Given the description of an element on the screen output the (x, y) to click on. 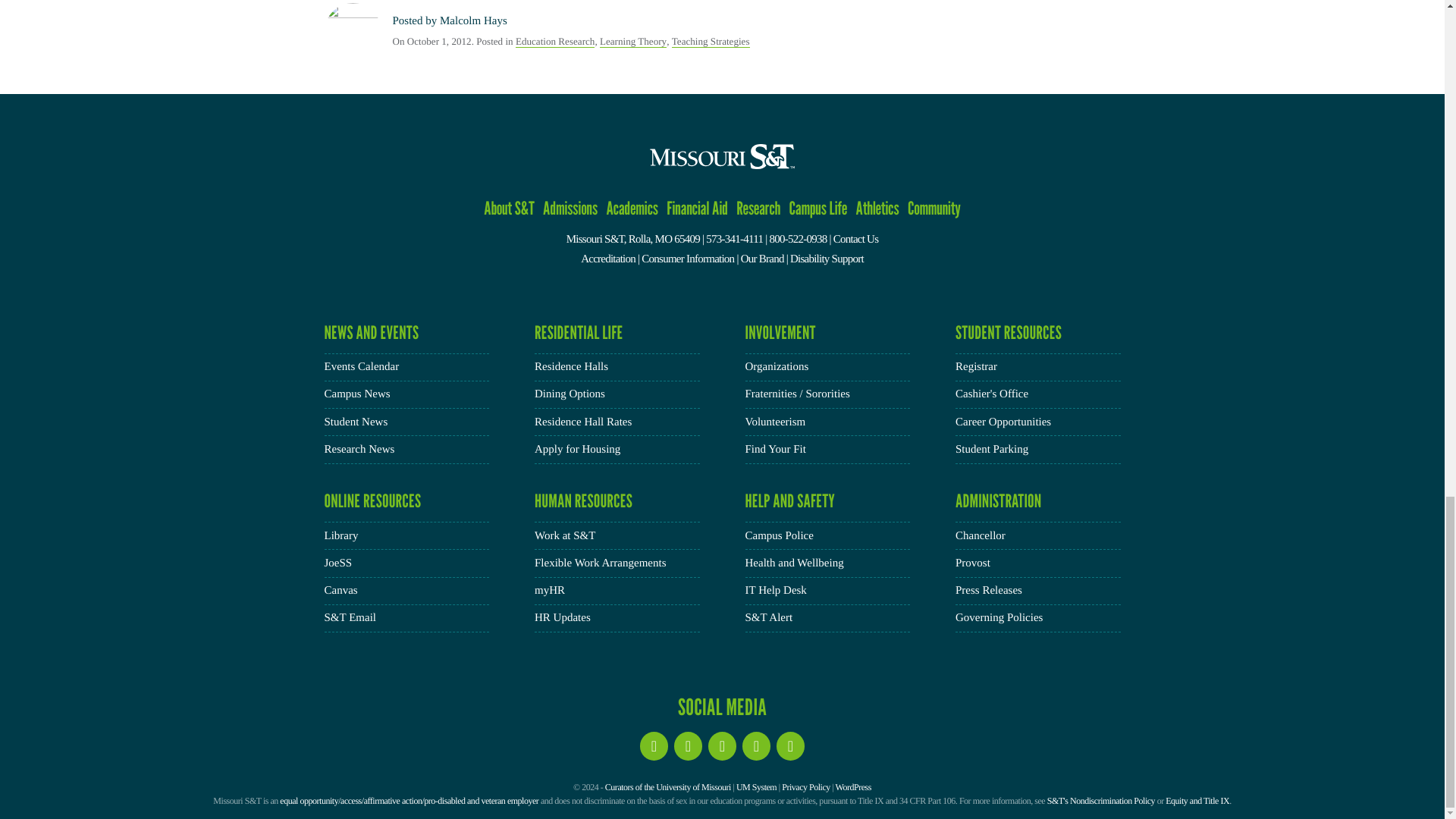
Malcolm Hays (472, 21)
Learning Theory (632, 41)
Posts by Malcolm Hays (472, 21)
Teaching Strategies (710, 41)
Education Research (554, 41)
